Given the description of an element on the screen output the (x, y) to click on. 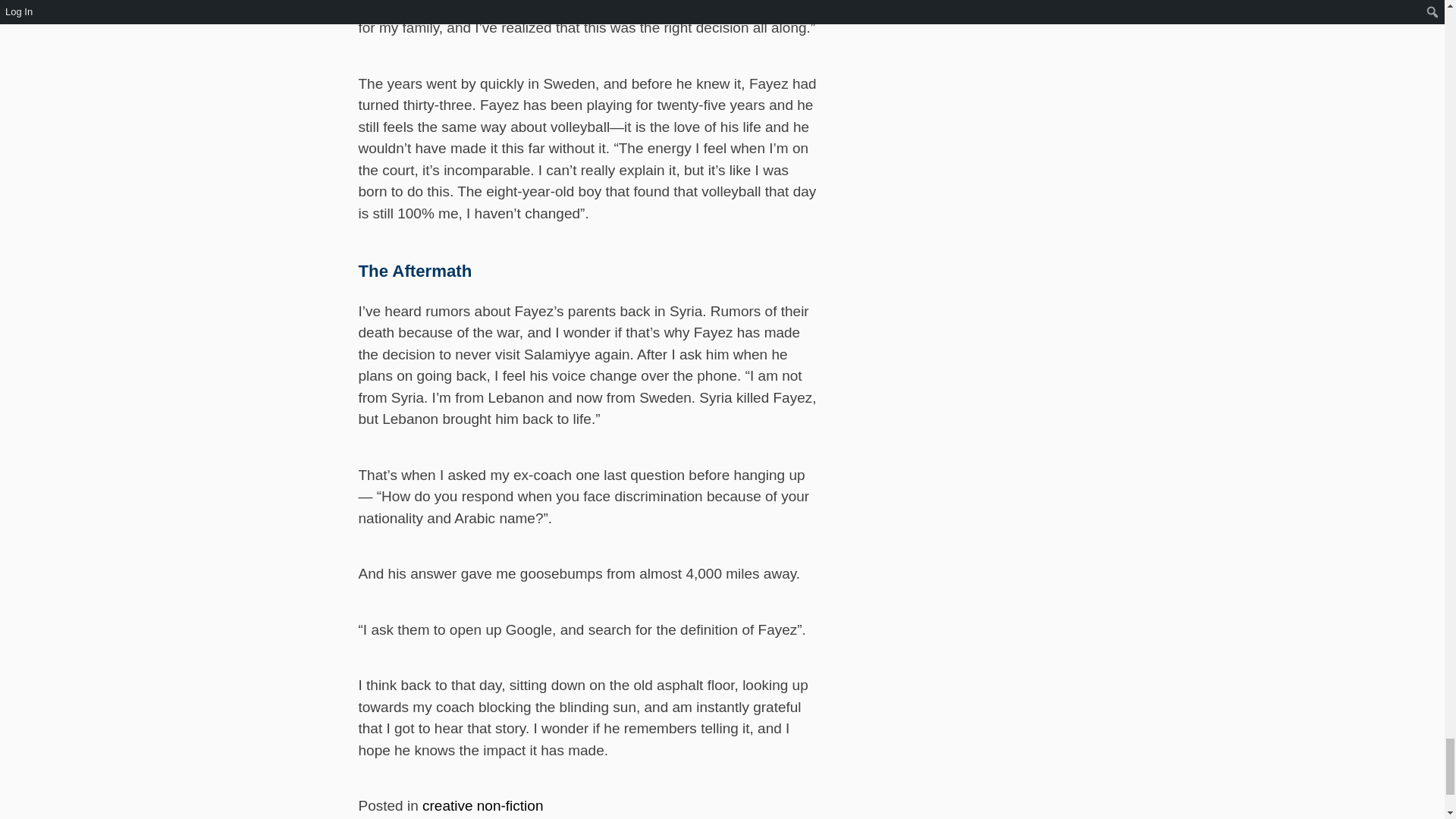
creative non-fiction (482, 805)
